Given the description of an element on the screen output the (x, y) to click on. 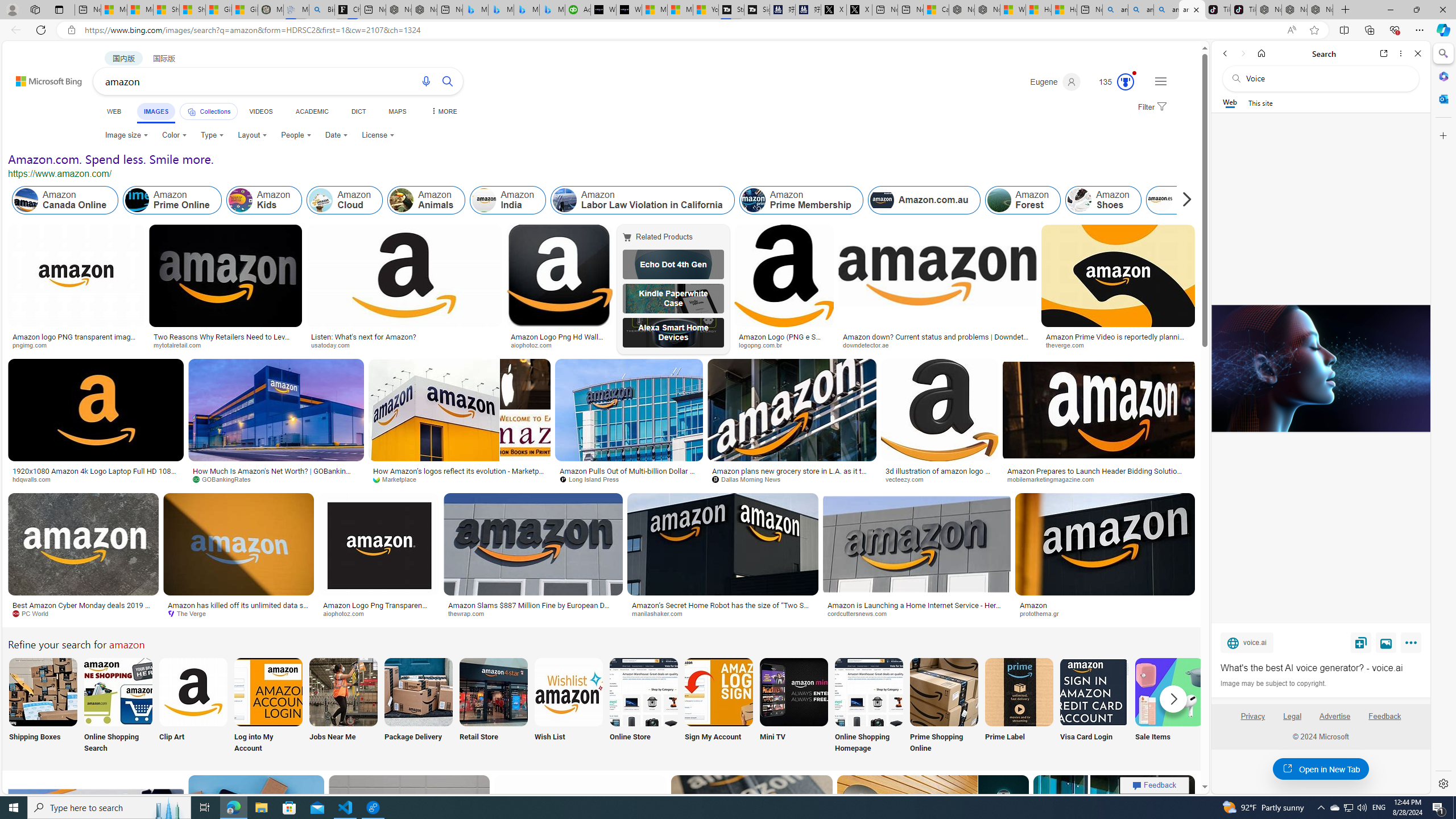
Legal (1291, 715)
View image (1385, 642)
ACADEMIC (311, 111)
Shanghai, China weather forecast | Microsoft Weather (192, 9)
Image size (126, 135)
Amazon Logo (PNG e SVG) Download Vetorial Transparente (783, 340)
Bing Real Estate - Home sales and rental listings (321, 9)
Marketplace (397, 479)
The Verge (237, 613)
aiophotoz.com (378, 613)
Amazon.com.au (923, 199)
